Given the description of an element on the screen output the (x, y) to click on. 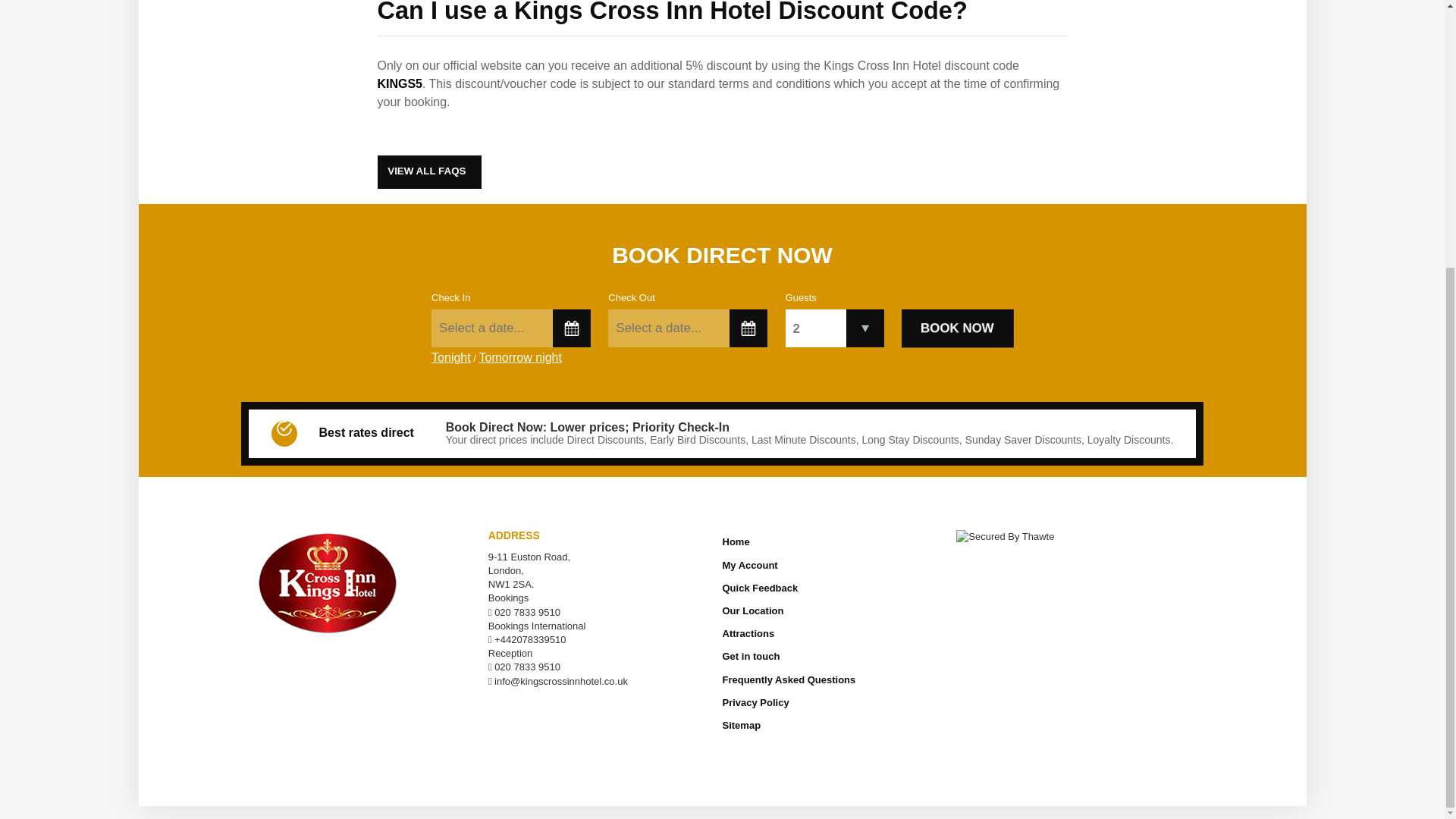
Privacy Policy (833, 702)
Attractions (833, 633)
Frequently Asked Questions (833, 680)
Tomorrow night (520, 361)
My Account (833, 565)
Our Location (833, 610)
VIEW ALL FAQS (429, 172)
Book Now (957, 328)
Sitemap (833, 725)
Quick Feedback (833, 588)
